Given the description of an element on the screen output the (x, y) to click on. 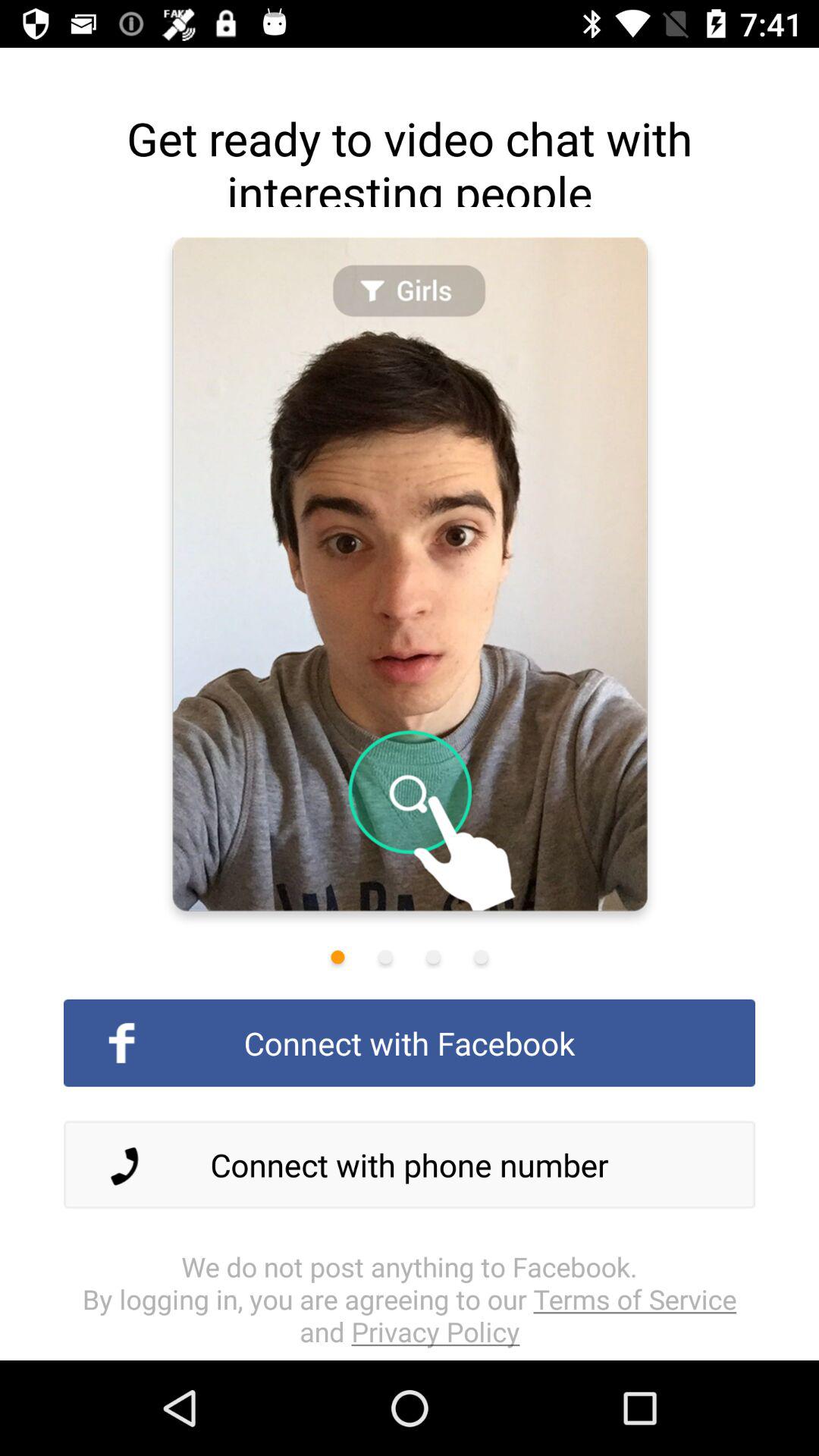
go to last image (480, 957)
